Given the description of an element on the screen output the (x, y) to click on. 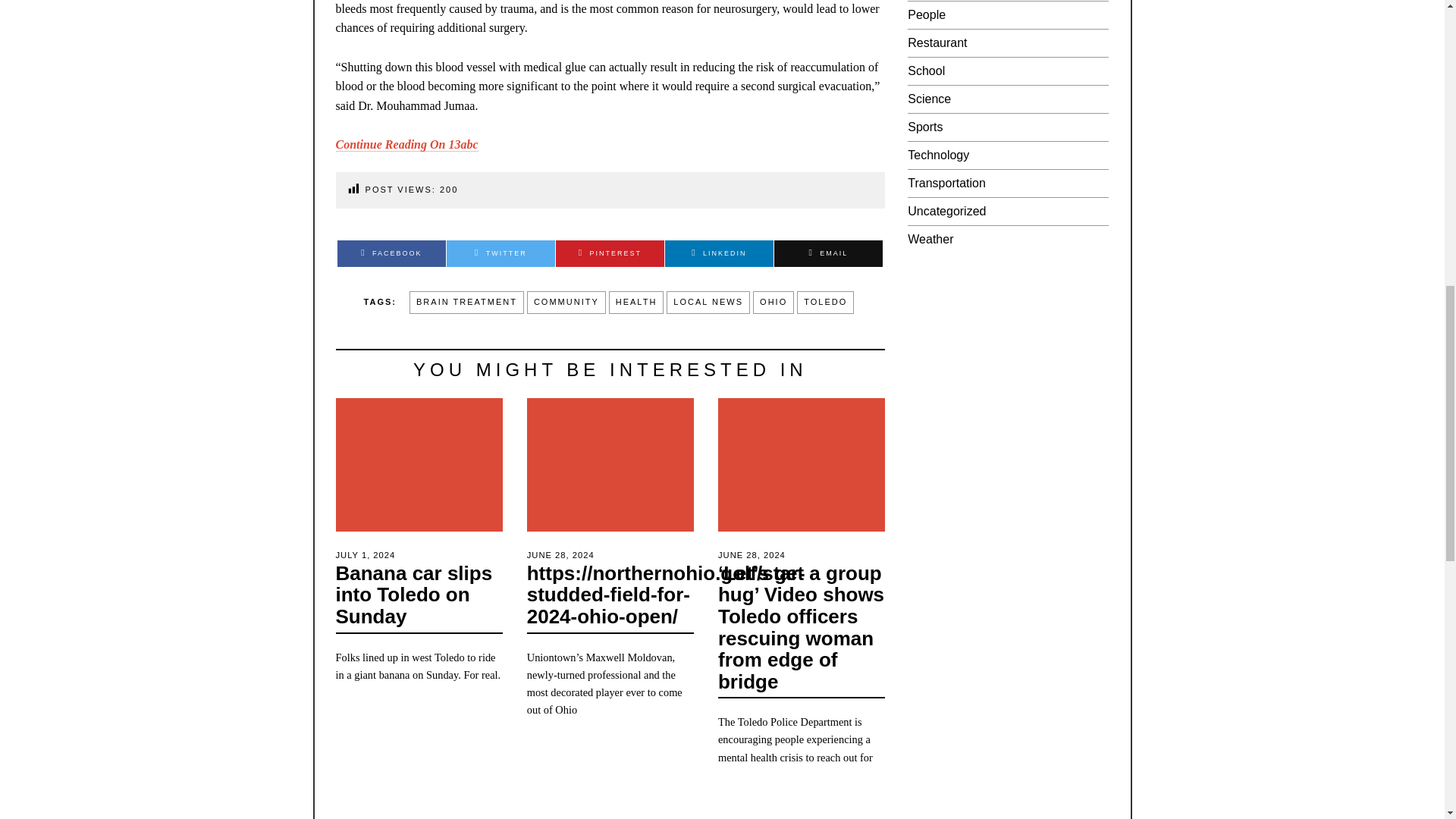
Facebook (391, 253)
HEALTH (635, 302)
Pinterest (609, 253)
Continue Reading On 13abc (405, 144)
FACEBOOK (391, 253)
TWITTER (500, 253)
LOCAL NEWS (707, 302)
OHIO (772, 302)
Twitter (500, 253)
EMAIL (828, 253)
